Given the description of an element on the screen output the (x, y) to click on. 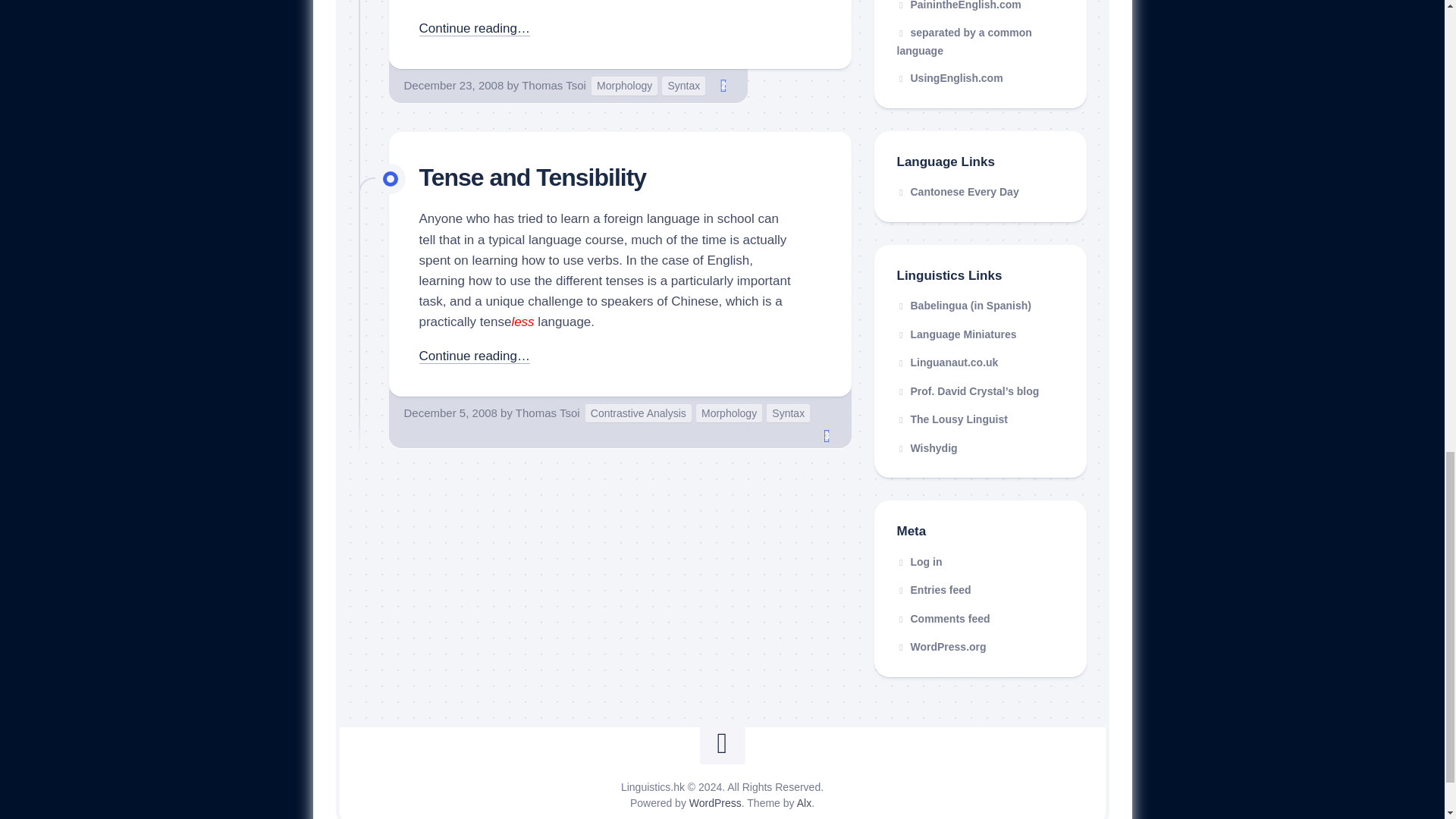
3 (825, 435)
2 (723, 85)
Morphology (728, 413)
Syntax (683, 85)
Thomas Tsoi (547, 412)
Syntax (788, 413)
Tense and Tensibility (532, 176)
Posts by Thomas Tsoi (553, 84)
Thomas Tsoi (553, 84)
Posts by Thomas Tsoi (547, 412)
Contrastive Analysis (638, 413)
Morphology (624, 85)
Learn Cantonese and Discover Hong Kong! (956, 191)
